Given the description of an element on the screen output the (x, y) to click on. 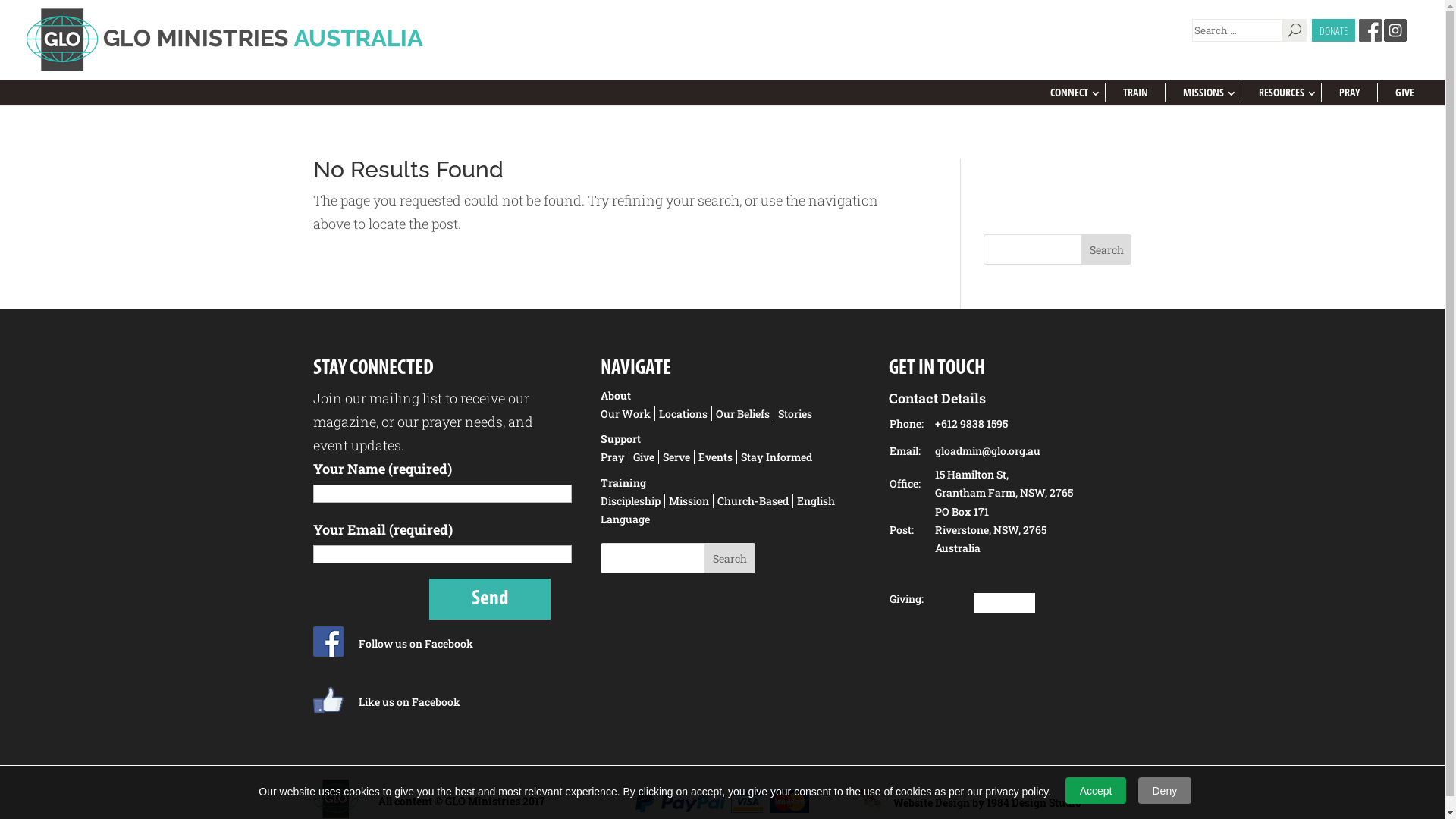
MISSIONS Element type: text (1203, 92)
magazine Element type: text (343, 421)
Mission Element type: text (689, 500)
Locations Element type: text (683, 413)
Search for: Element type: hover (1237, 29)
Stay Informed Element type: text (776, 456)
Give Element type: text (643, 456)
English Language Element type: text (717, 509)
Church-Based Element type: text (753, 500)
Our Work Element type: text (627, 413)
GIVE Element type: text (1404, 92)
Search Element type: text (729, 557)
Discipleship Element type: text (632, 500)
CONNECT Element type: text (1069, 92)
Stories Element type: text (794, 413)
Our Beliefs Element type: text (743, 413)
Donate Element type: text (1004, 602)
prayer needs Element type: text (461, 421)
Pray Element type: text (614, 456)
TRAIN Element type: text (1135, 92)
DONATE Element type: text (1333, 29)
Events Element type: text (715, 456)
Send Element type: text (489, 598)
RESOURCES Element type: text (1281, 92)
Search Element type: text (1106, 249)
Serve Element type: text (676, 456)
PRAY Element type: text (1349, 92)
